Given the description of an element on the screen output the (x, y) to click on. 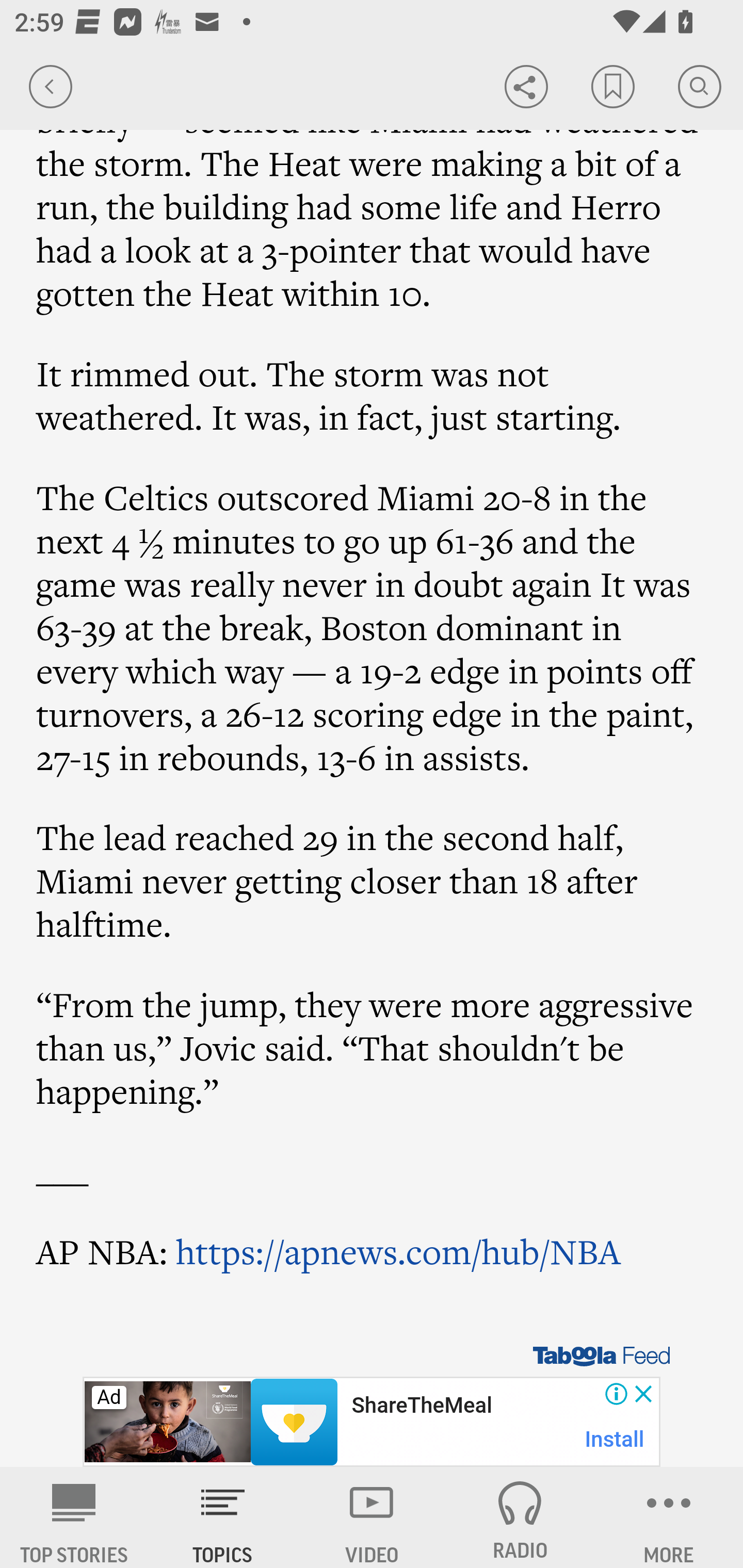
https://apnews.com/hub/NBA (397, 1251)
ShareTheMeal (420, 1405)
Install (614, 1438)
AP News TOP STORIES (74, 1517)
TOPICS (222, 1517)
VIDEO (371, 1517)
RADIO (519, 1517)
MORE (668, 1517)
